Given the description of an element on the screen output the (x, y) to click on. 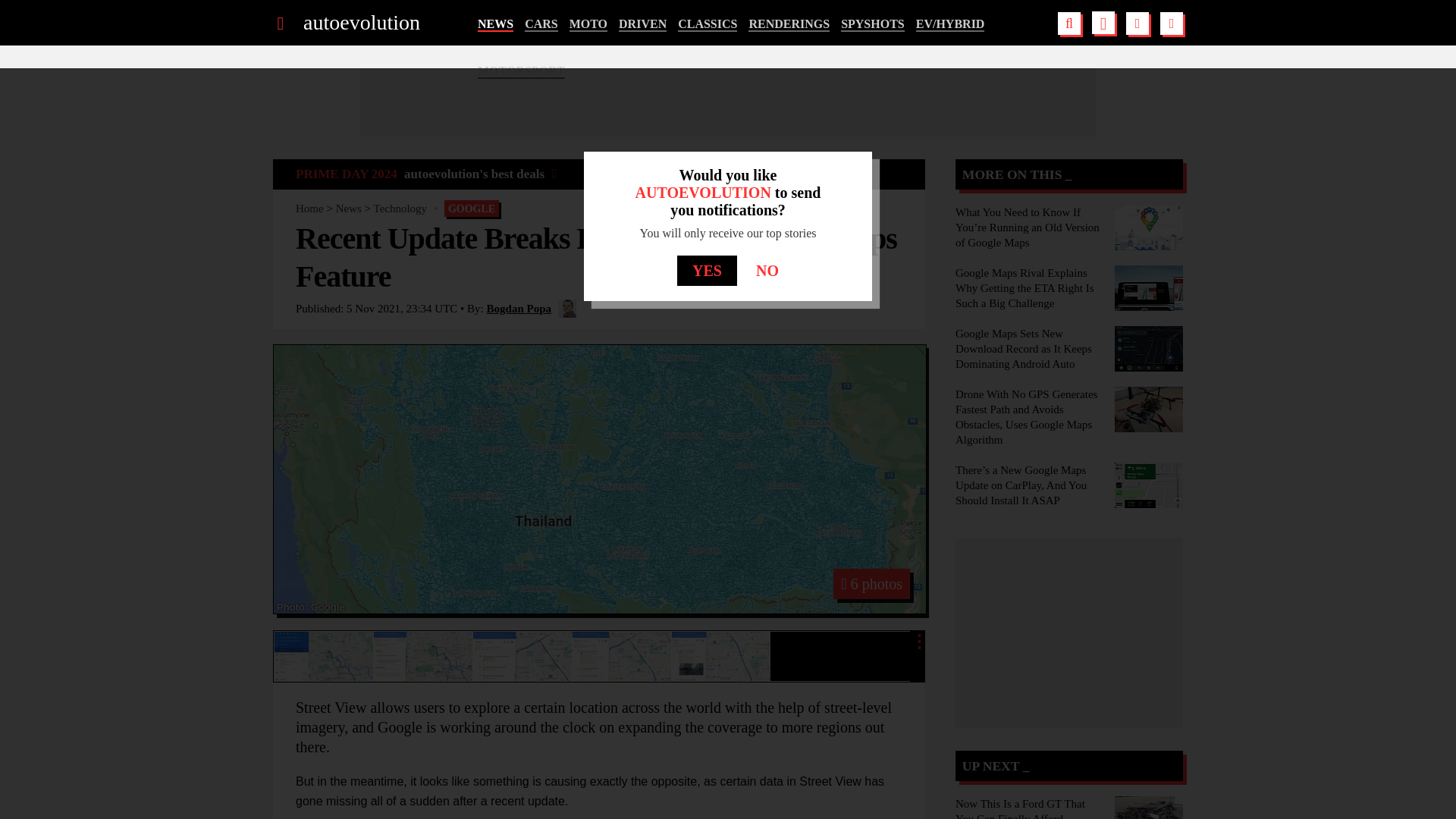
MOTO (588, 24)
MOTORSPORT (520, 71)
PRIME DAY 2024 (346, 173)
CLASSICS (707, 24)
autoevolution (361, 22)
RENDERINGS (788, 24)
Home (309, 208)
autoevolution (361, 22)
SPYSHOTS (872, 24)
DRIVEN (642, 24)
NEWS (495, 24)
autoevolution's best deals (480, 173)
CARS (540, 24)
